Given the description of an element on the screen output the (x, y) to click on. 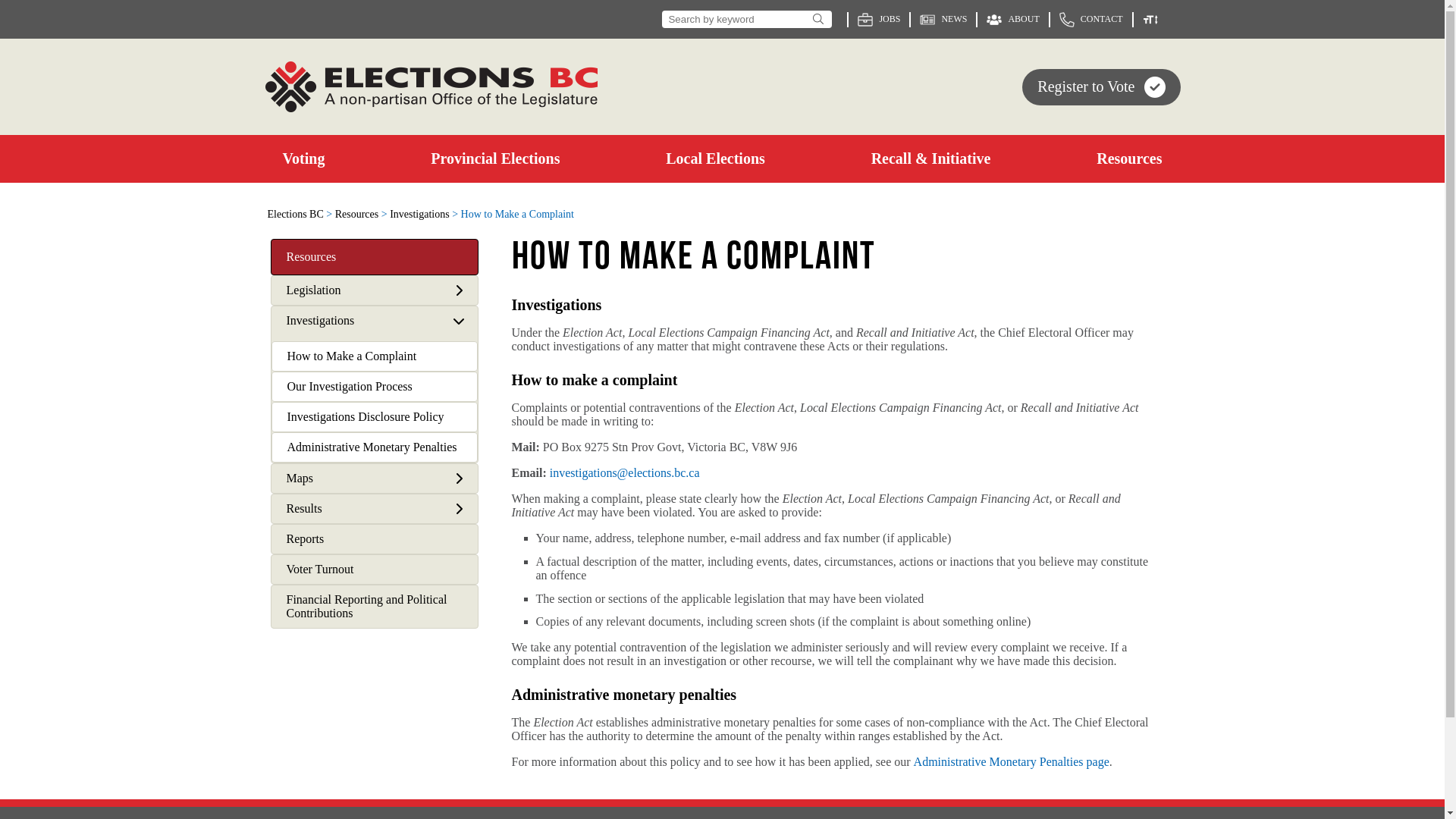
Results Element type: text (304, 508)
NEWS Element type: text (942, 19)
Administrative Monetary Penalties Element type: text (373, 447)
Search Element type: hover (746, 19)
Voter Turnout Element type: text (374, 569)
Legislation Element type: text (313, 290)
ABOUT Element type: text (1012, 19)
Resources Element type: text (357, 213)
Elections BC Element type: text (294, 213)
Investigations Element type: text (419, 213)
Investigations Disclosure Policy Element type: text (373, 416)
Register to Vote Element type: text (1100, 86)
Reports Element type: text (374, 538)
Administrative Monetary Penalties page Element type: text (1011, 761)
Maps Element type: text (299, 478)
Our Investigation Process Element type: text (373, 386)
investigations@elections.bc.ca Element type: text (624, 472)
Submit search Element type: hover (817, 19)
JOBS Element type: text (878, 19)
How to Make a Complaint Element type: text (373, 356)
Investigations Element type: text (320, 320)
Financial Reporting and Political Contributions Element type: text (374, 606)
CONTACT Element type: text (1091, 19)
